Given the description of an element on the screen output the (x, y) to click on. 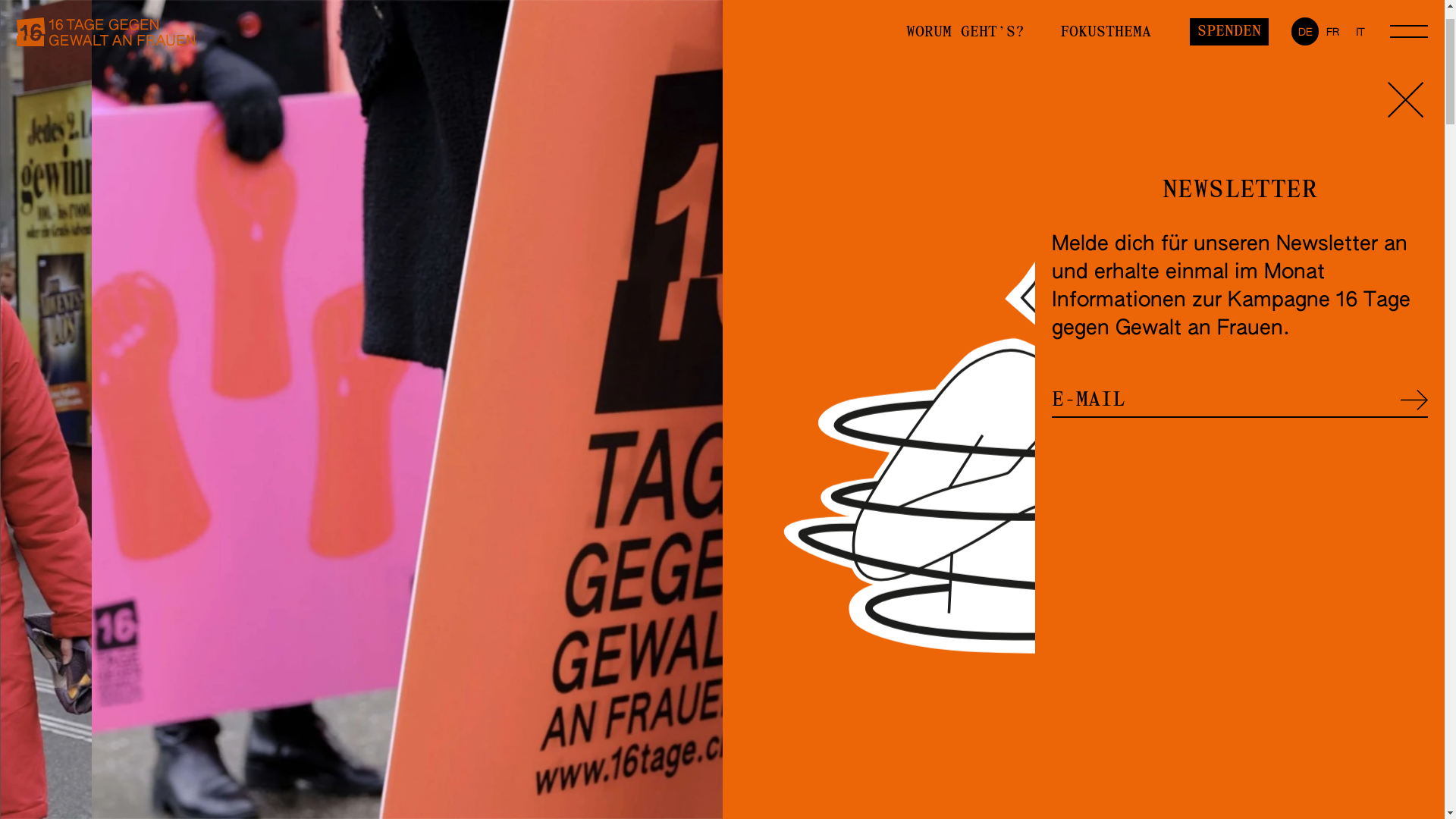
DE Element type: text (1304, 95)
IT Element type: text (1360, 95)
SPENDEN Element type: text (1228, 95)
Anmelden Element type: text (1413, 464)
FR Element type: text (1332, 95)
FOKUSTHEMA Element type: text (1105, 96)
